Given the description of an element on the screen output the (x, y) to click on. 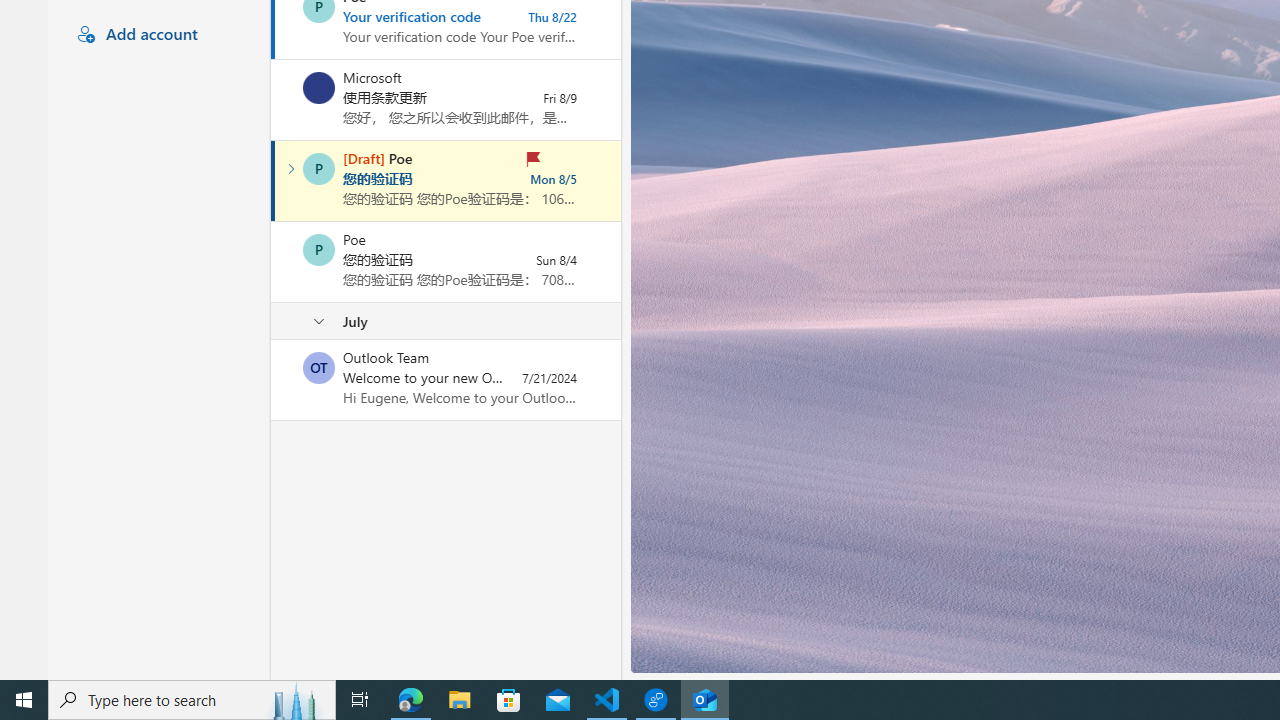
Mark as read (273, 181)
Select a conversation (319, 367)
Microsoft (319, 87)
Expand conversation (291, 168)
Mark as unread (273, 379)
Poe (319, 249)
Outlook Team (319, 367)
